Given the description of an element on the screen output the (x, y) to click on. 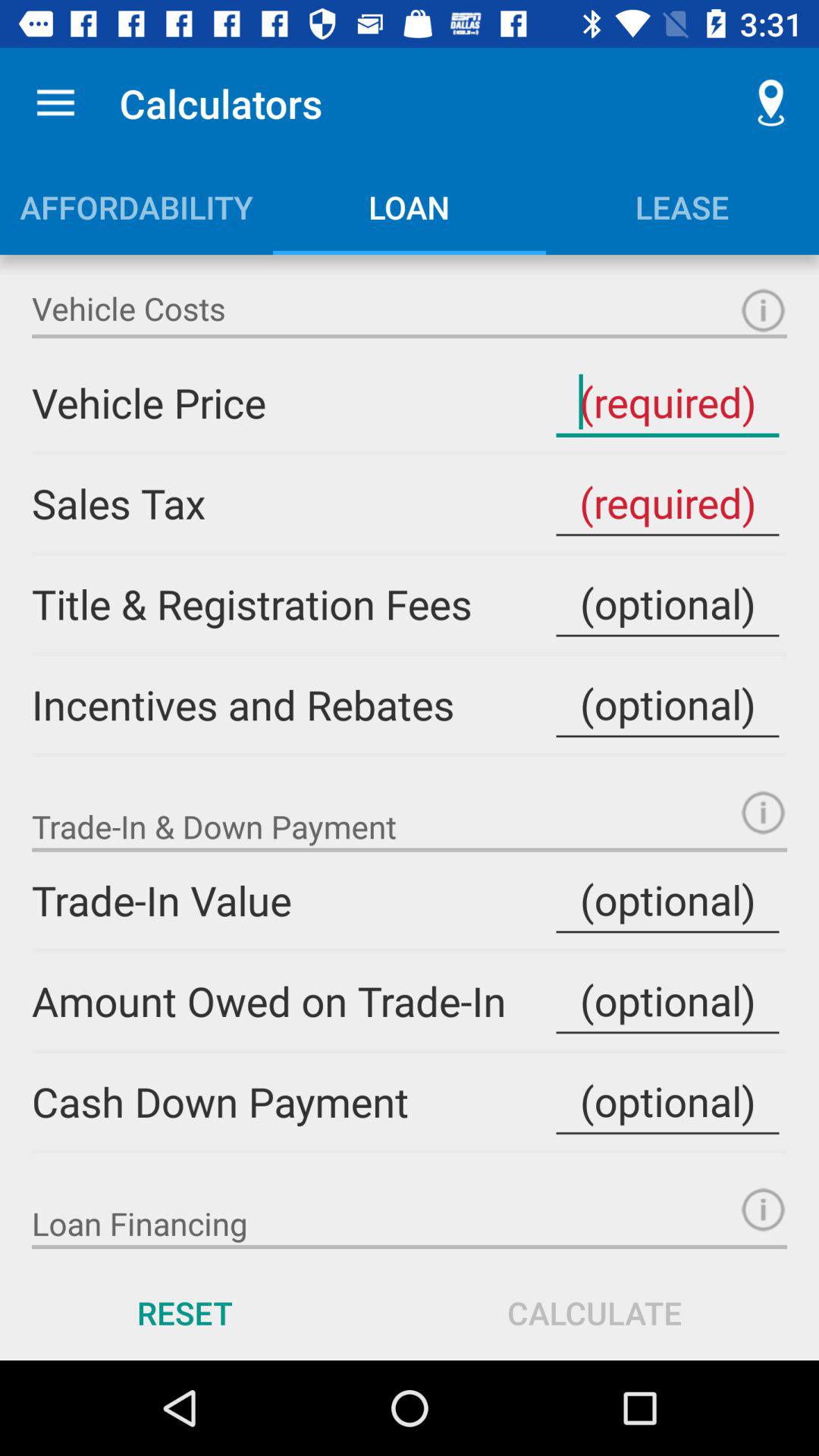
open the reset icon (184, 1312)
